Given the description of an element on the screen output the (x, y) to click on. 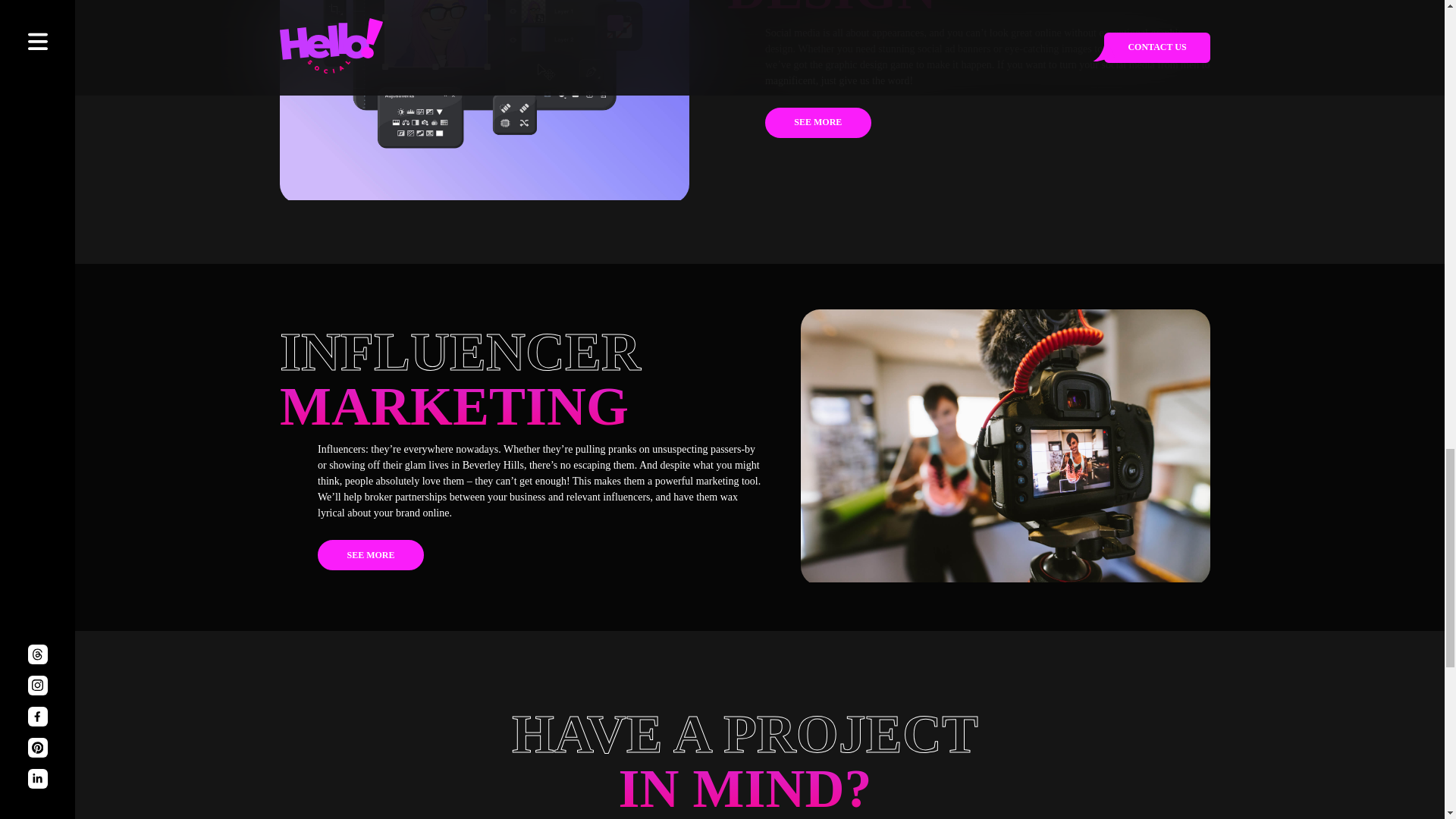
SEE MORE (370, 554)
SEE MORE (817, 122)
